Given the description of an element on the screen output the (x, y) to click on. 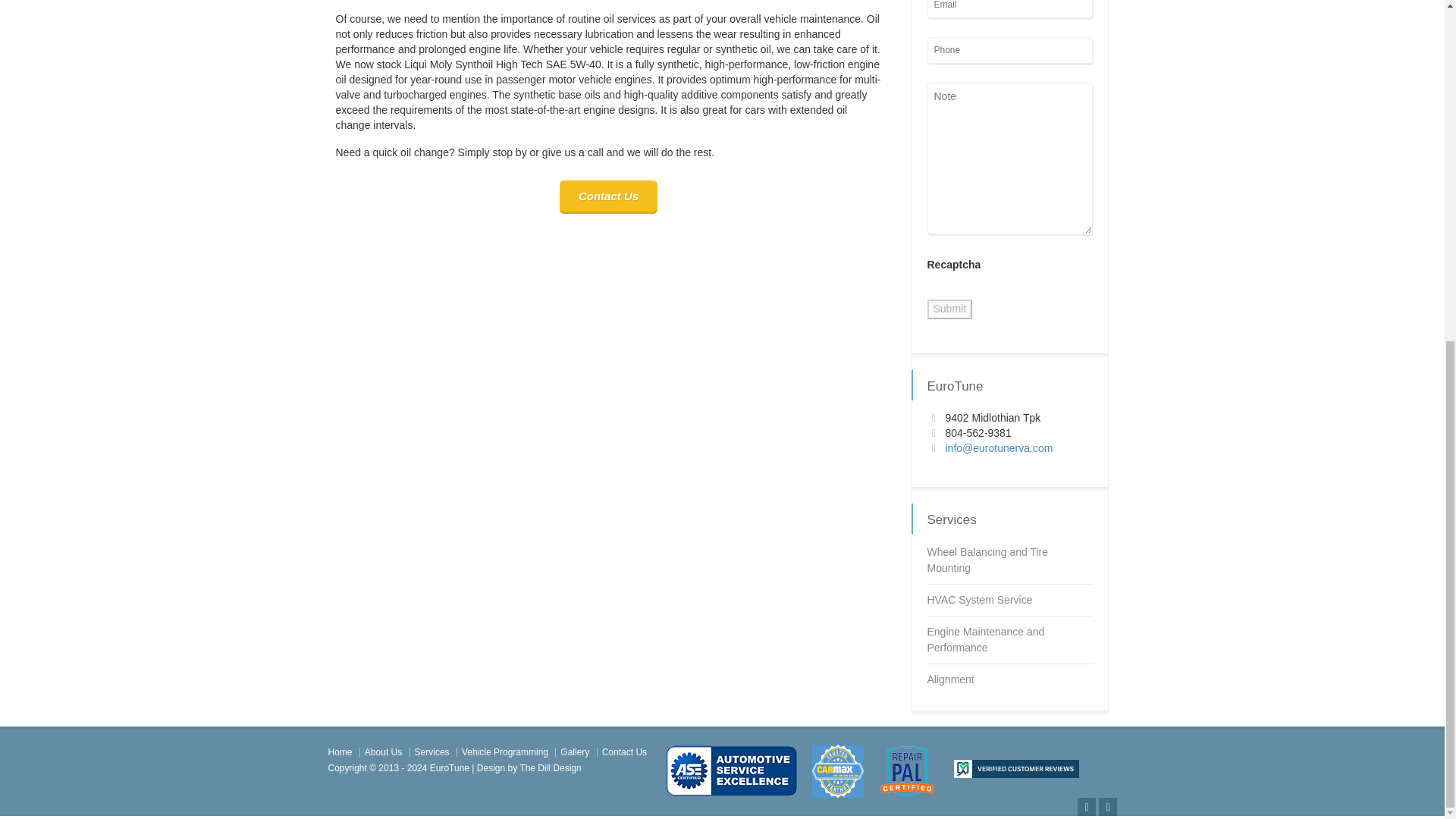
Visit our company (448, 767)
Contact Us (608, 196)
Twitter (1085, 806)
Contact Us (608, 196)
Facebook (1106, 806)
Submit (949, 309)
